Given the description of an element on the screen output the (x, y) to click on. 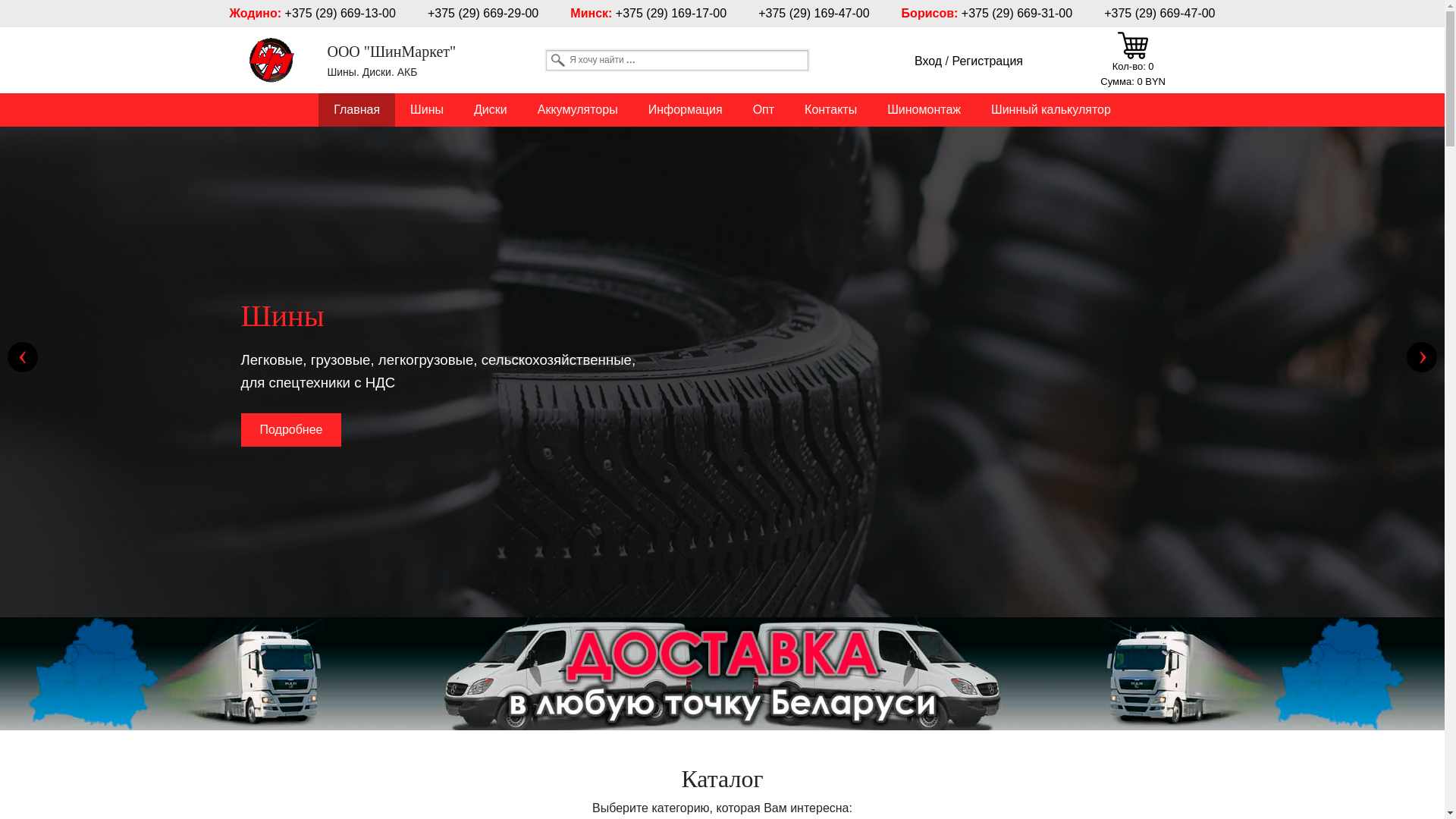
+375 (29) 669-13-00 Element type: text (340, 12)
+375 (29) 169-17-00 Element type: text (670, 12)
+375 (29) 169-47-00 Element type: text (813, 12)
+375 (29) 669-31-00 Element type: text (1016, 12)
+375 (29) 669-47-00 Element type: text (1159, 12)
+375 (29) 669-29-00 Element type: text (482, 12)
